Given the description of an element on the screen output the (x, y) to click on. 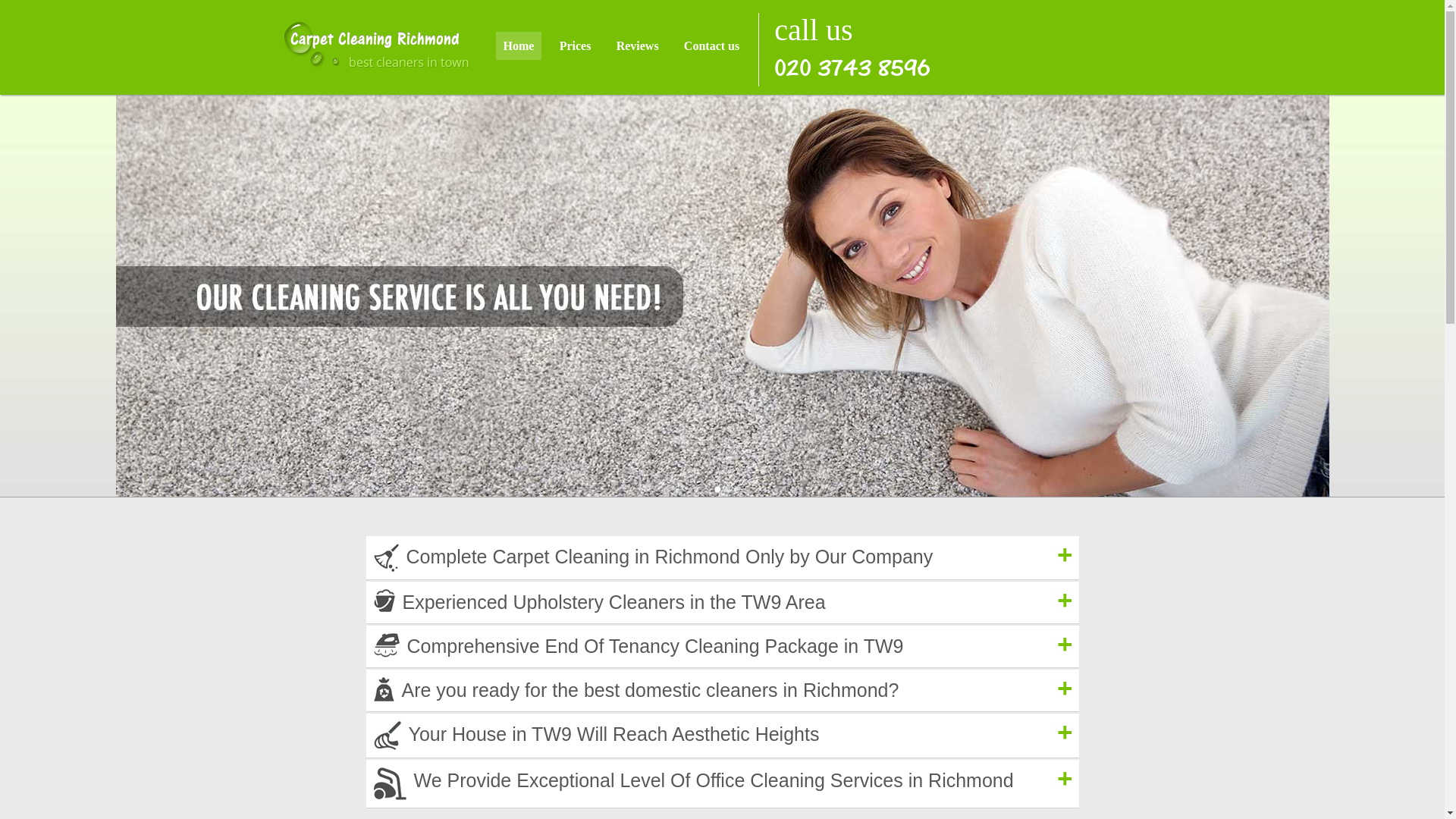
3 (737, 489)
Prices (574, 45)
Reviews (637, 45)
2 (726, 489)
2 (726, 489)
call us (855, 45)
1 (717, 489)
Contact us (711, 45)
3 (737, 489)
1 (717, 489)
Home (518, 45)
